Given the description of an element on the screen output the (x, y) to click on. 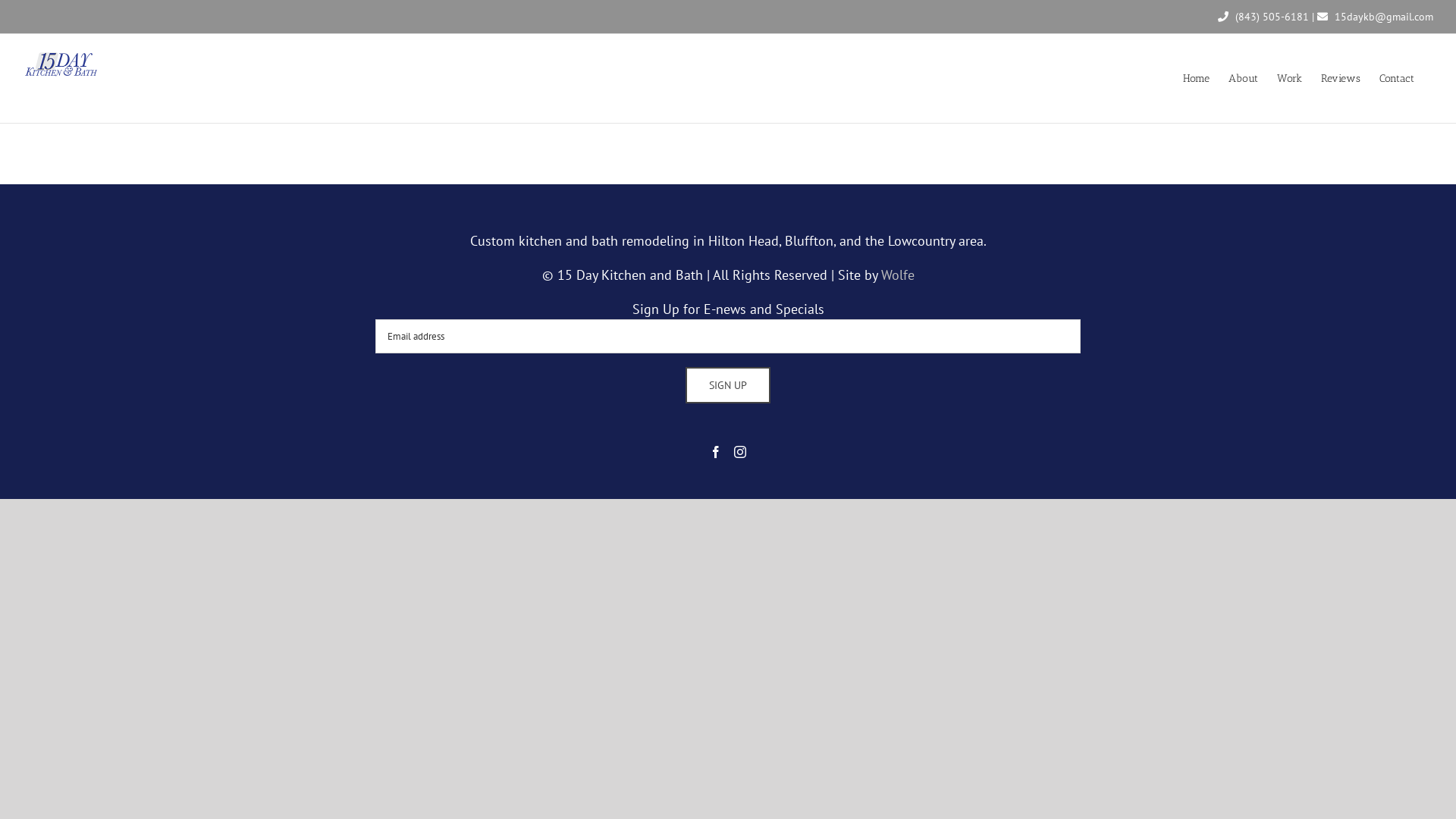
Sign up Element type: text (727, 385)
Home Element type: text (1196, 78)
About Element type: text (1243, 78)
Reviews Element type: text (1340, 78)
15daykb@gmail.com Element type: text (1383, 16)
Contact Element type: text (1396, 78)
Wolfe Element type: text (897, 274)
Work Element type: text (1289, 78)
